Given the description of an element on the screen output the (x, y) to click on. 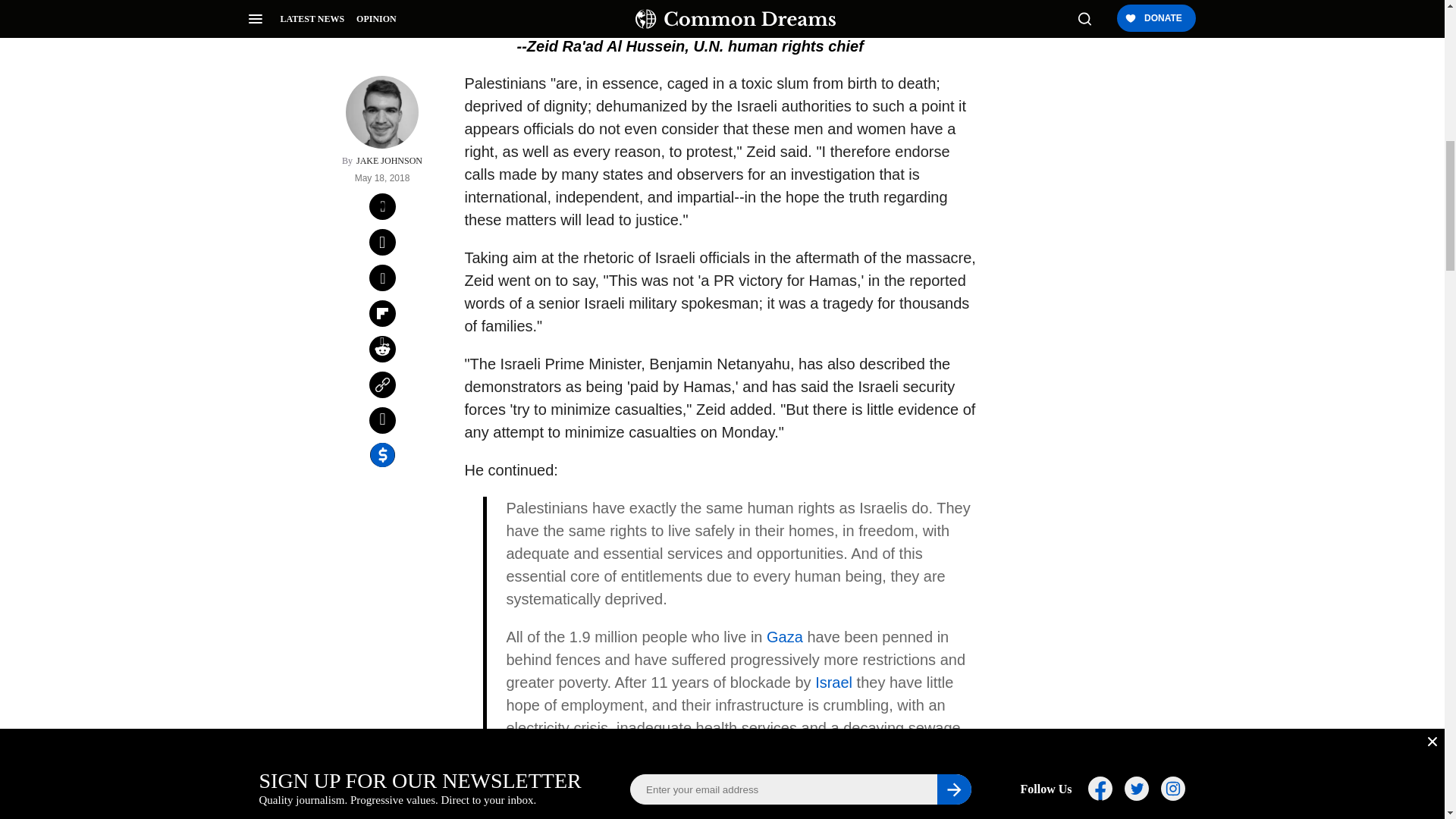
Donate Button (1051, 207)
Copy this link to clipboard (382, 157)
